Given the description of an element on the screen output the (x, y) to click on. 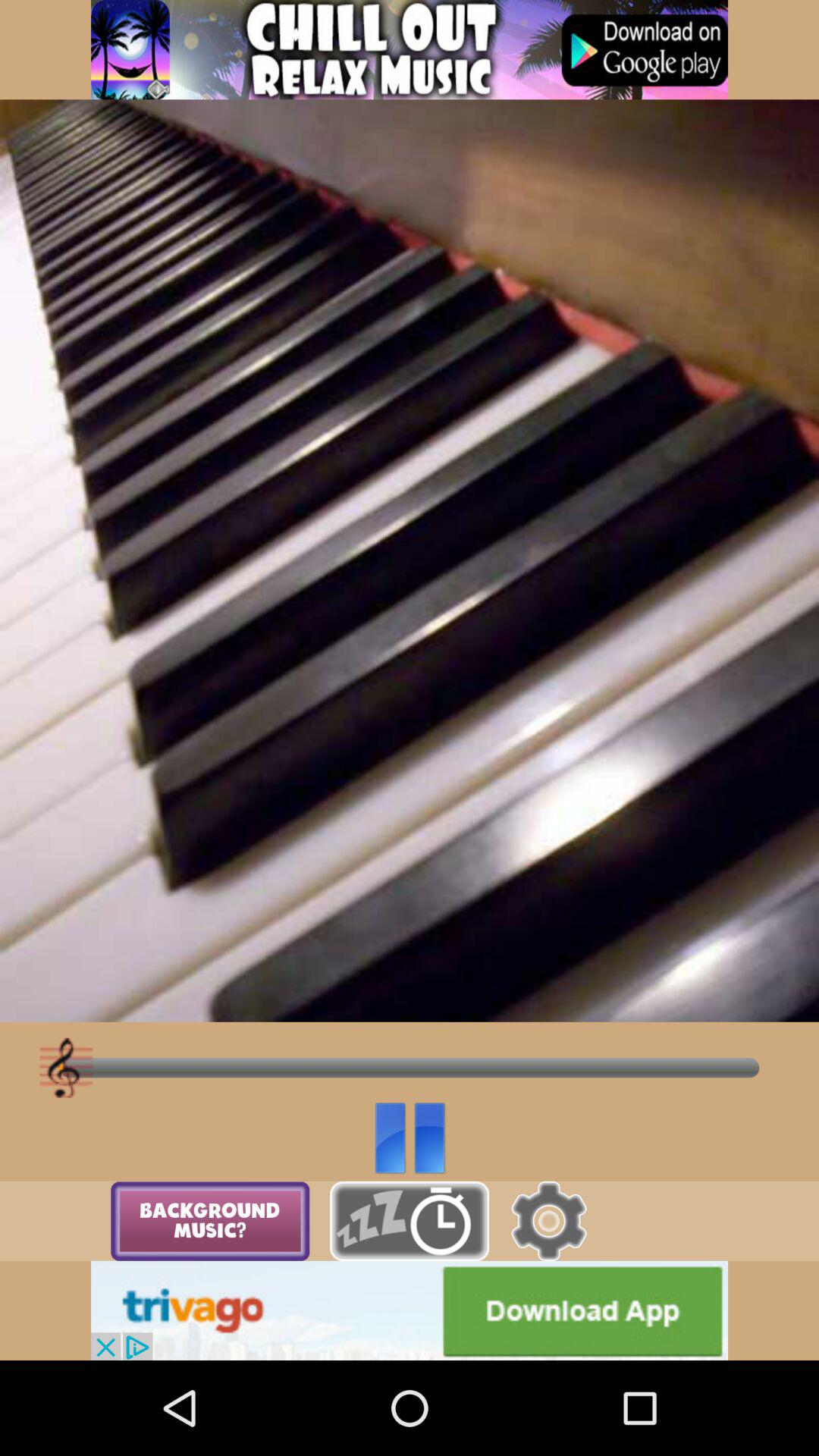
go to setting (548, 1220)
